Given the description of an element on the screen output the (x, y) to click on. 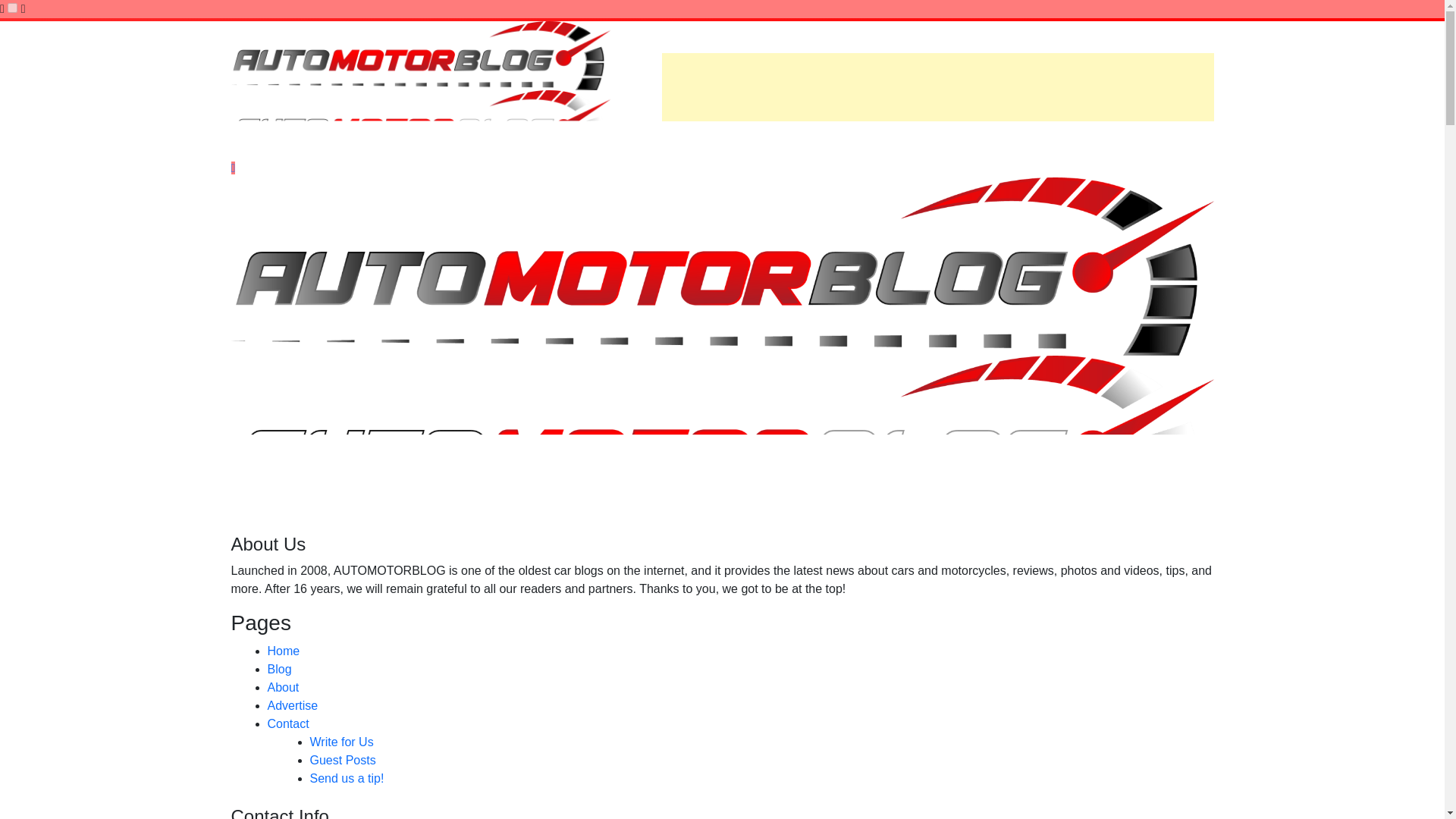
About (282, 686)
Write for Us (340, 741)
Contact (287, 723)
Guest Posts (341, 759)
Blog (278, 668)
Send us a tip! (346, 778)
Home (282, 650)
Advertise (291, 705)
on (12, 8)
